Given the description of an element on the screen output the (x, y) to click on. 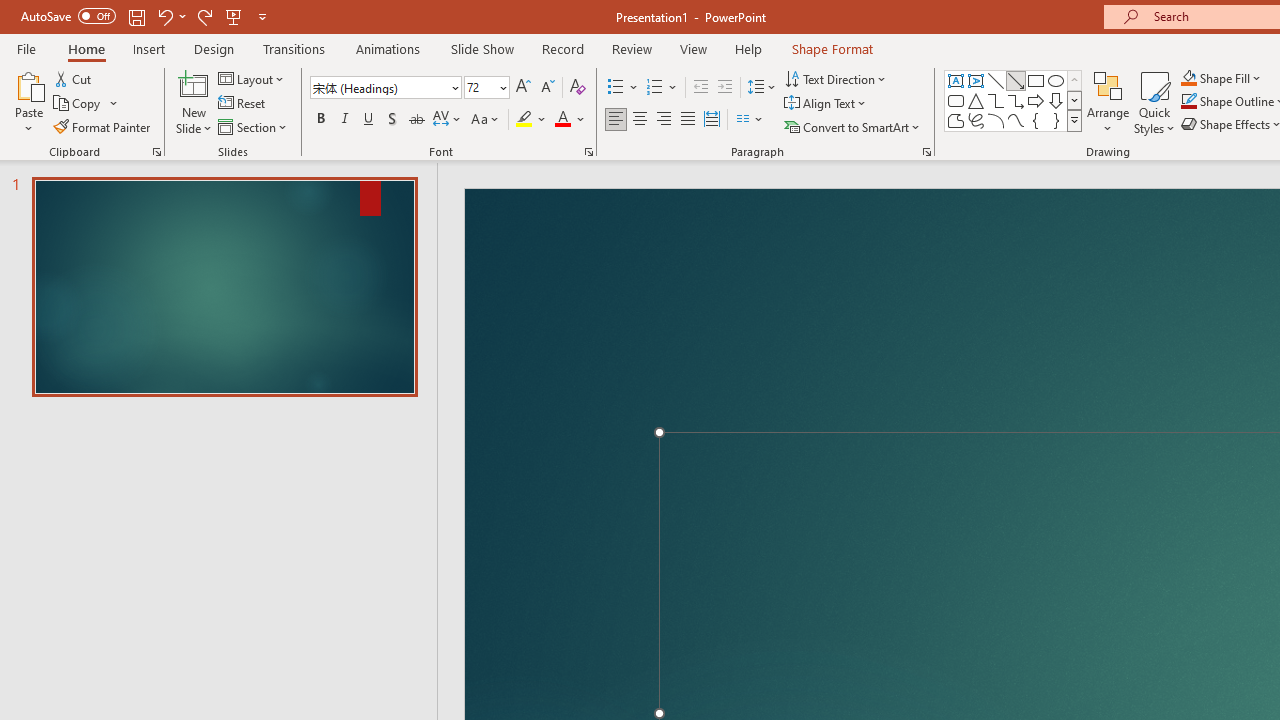
Isosceles Triangle (975, 100)
Line Arrow (1016, 80)
Italic (344, 119)
Align Left (616, 119)
Font Color (569, 119)
Left Brace (1035, 120)
Increase Font Size (522, 87)
Font (385, 87)
Cut (73, 78)
